Given the description of an element on the screen output the (x, y) to click on. 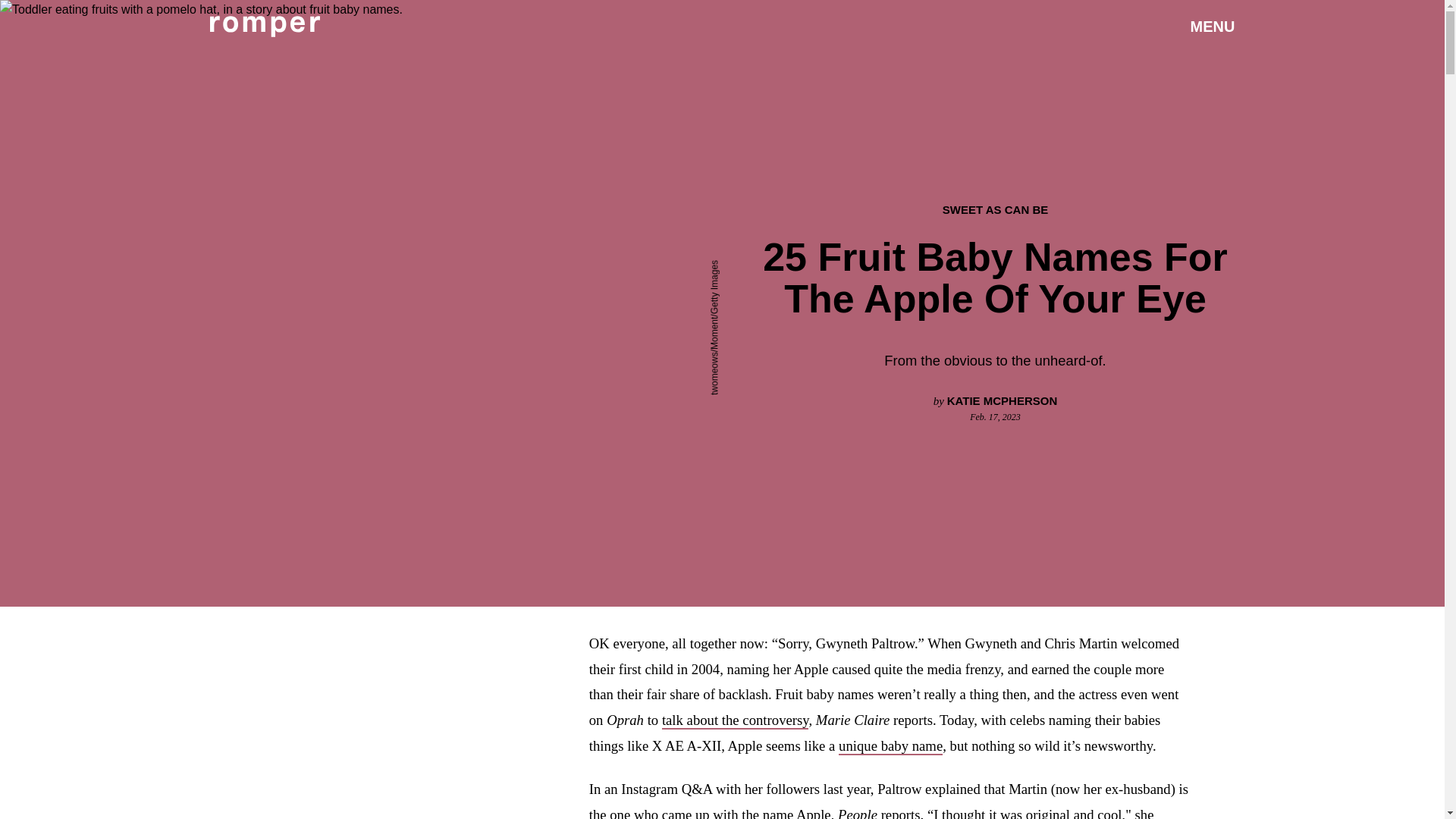
unique baby name (890, 746)
who came up with the name Apple (732, 812)
talk about the controversy (735, 720)
KATIE MCPHERSON (1002, 400)
Romper (263, 26)
